Given the description of an element on the screen output the (x, y) to click on. 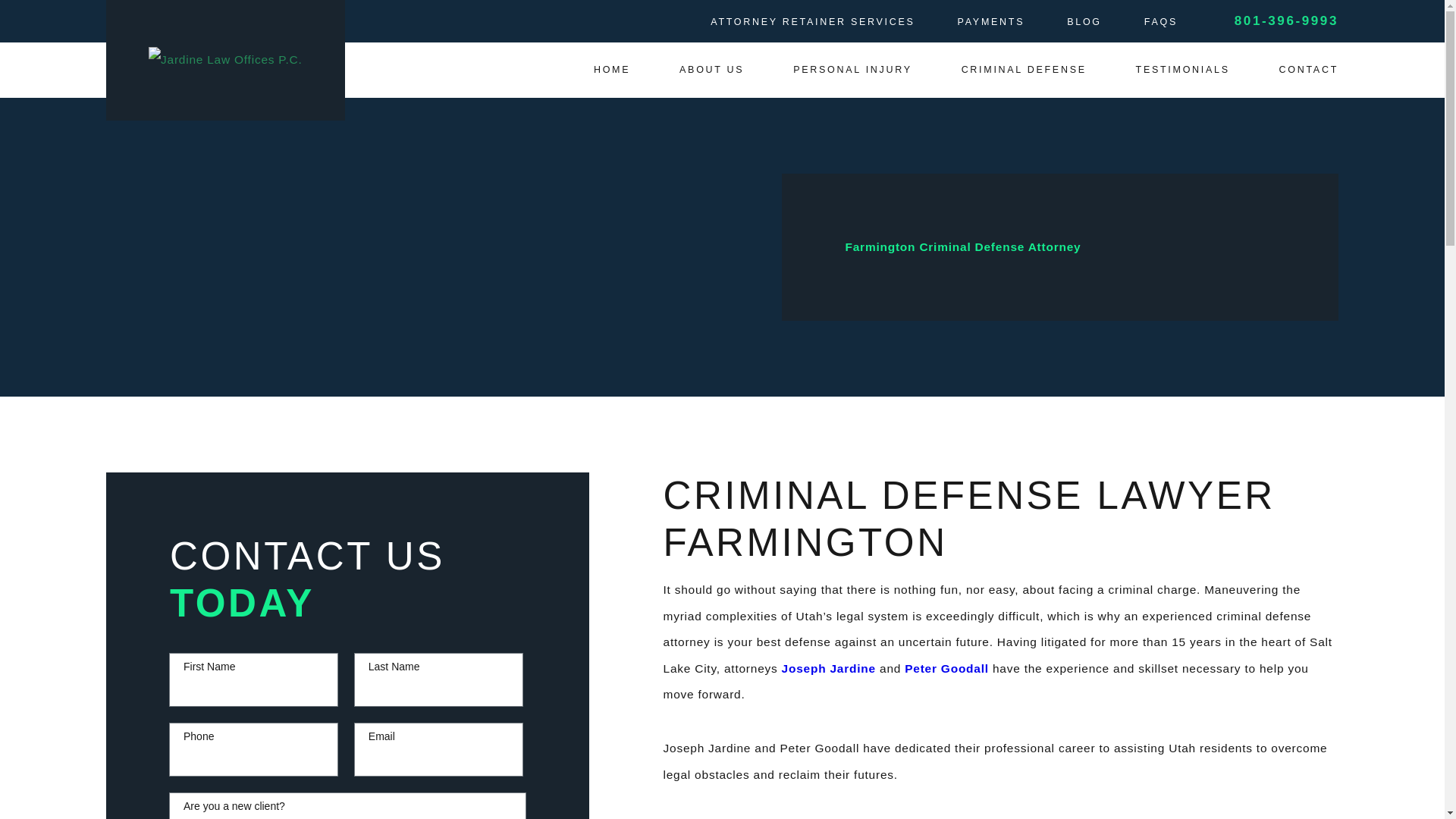
CRIMINAL DEFENSE (1023, 69)
801-396-9993 (1286, 21)
ATTORNEY RETAINER SERVICES (812, 21)
PAYMENTS (991, 21)
ABOUT US (711, 69)
HOME (612, 69)
Jardine Law Offices P.C. (225, 59)
BLOG (1084, 21)
Open the accessibility options menu (31, 786)
FAQS (1160, 21)
